Given the description of an element on the screen output the (x, y) to click on. 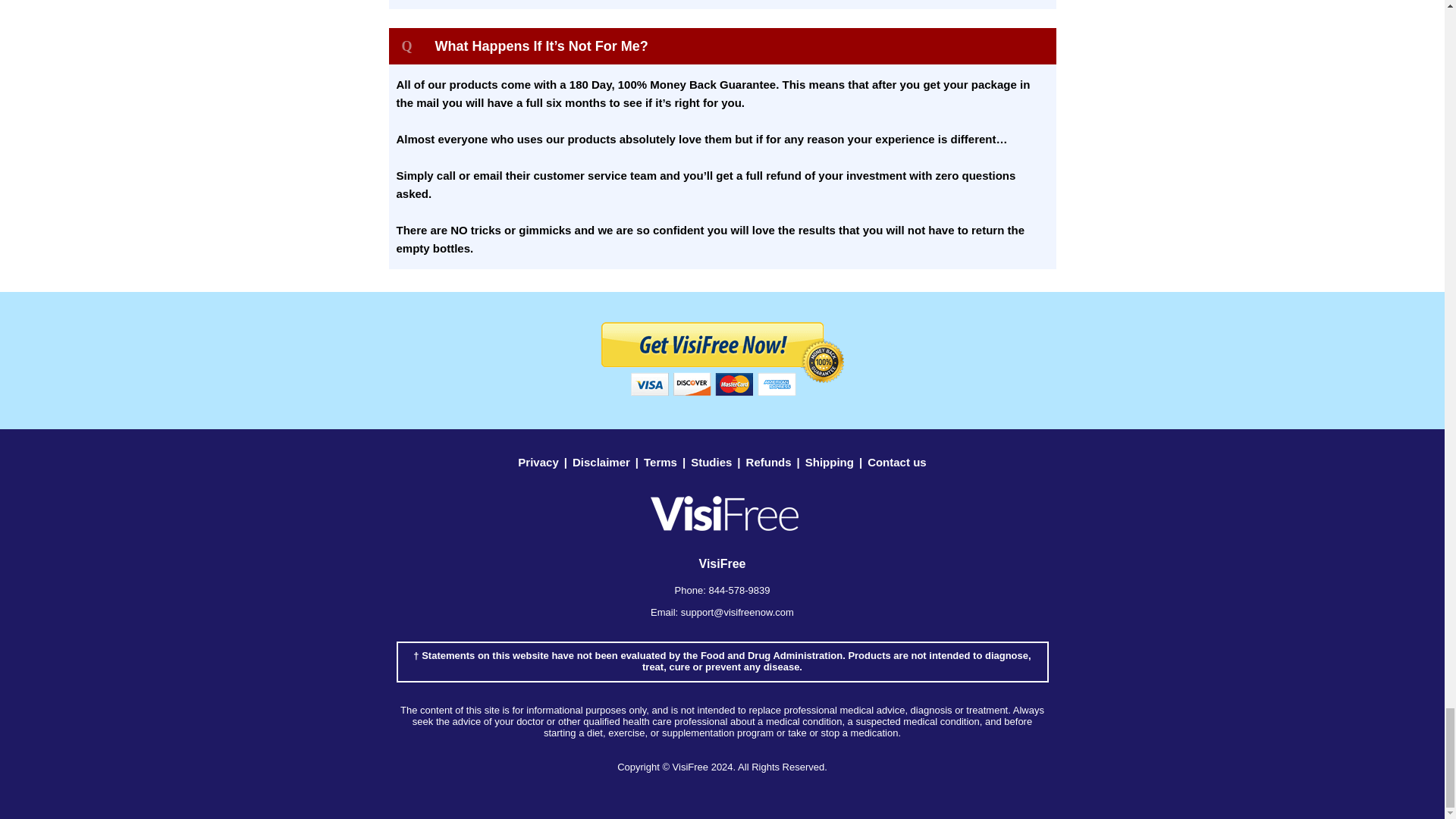
Contact us (896, 461)
844-578-9839 (738, 590)
VisiFree (689, 767)
